Given the description of an element on the screen output the (x, y) to click on. 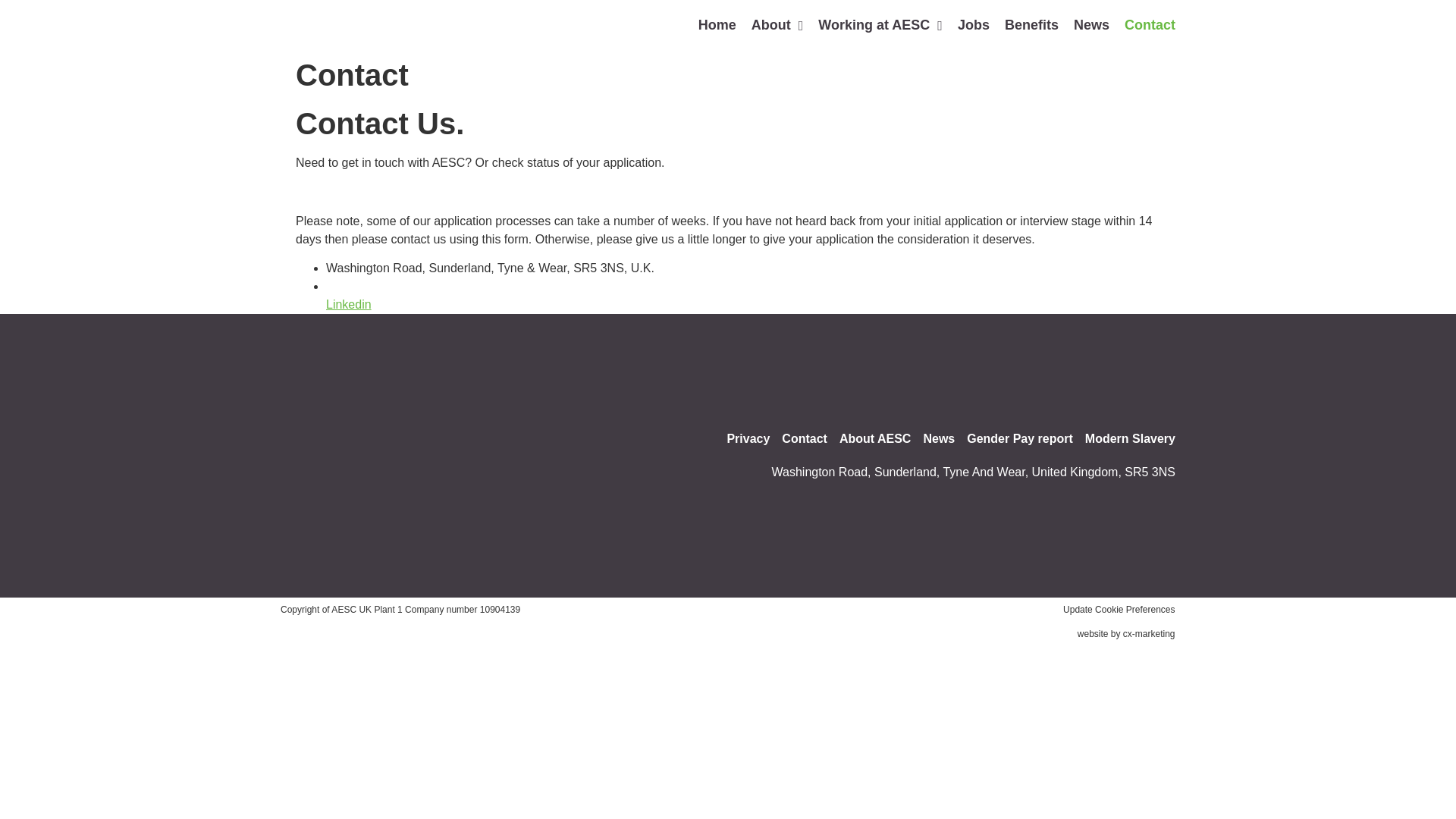
About AESC (875, 438)
News (1090, 25)
Working at AESC (880, 25)
Contact (804, 438)
News (939, 438)
Home (717, 25)
About (777, 25)
Jobs (973, 25)
Modern Slavery (1129, 438)
Benefits (1031, 25)
Linkedin (348, 313)
Contact (1149, 25)
Privacy (748, 438)
website by cx-marketing (1125, 633)
Gender Pay report (1019, 438)
